Given the description of an element on the screen output the (x, y) to click on. 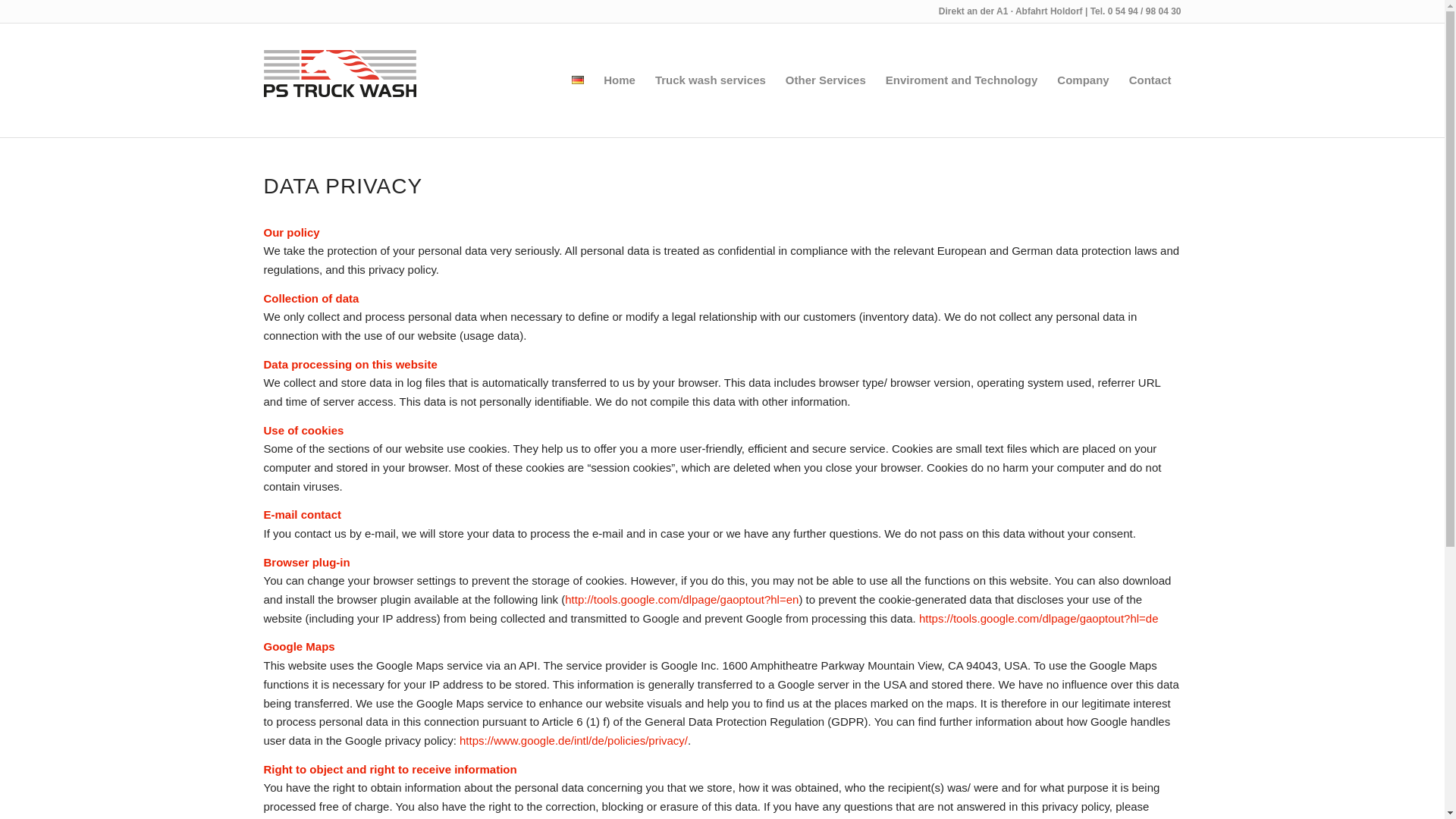
Truck wash services (710, 80)
Enviroment and Technology (962, 80)
Deutsch (577, 80)
